Given the description of an element on the screen output the (x, y) to click on. 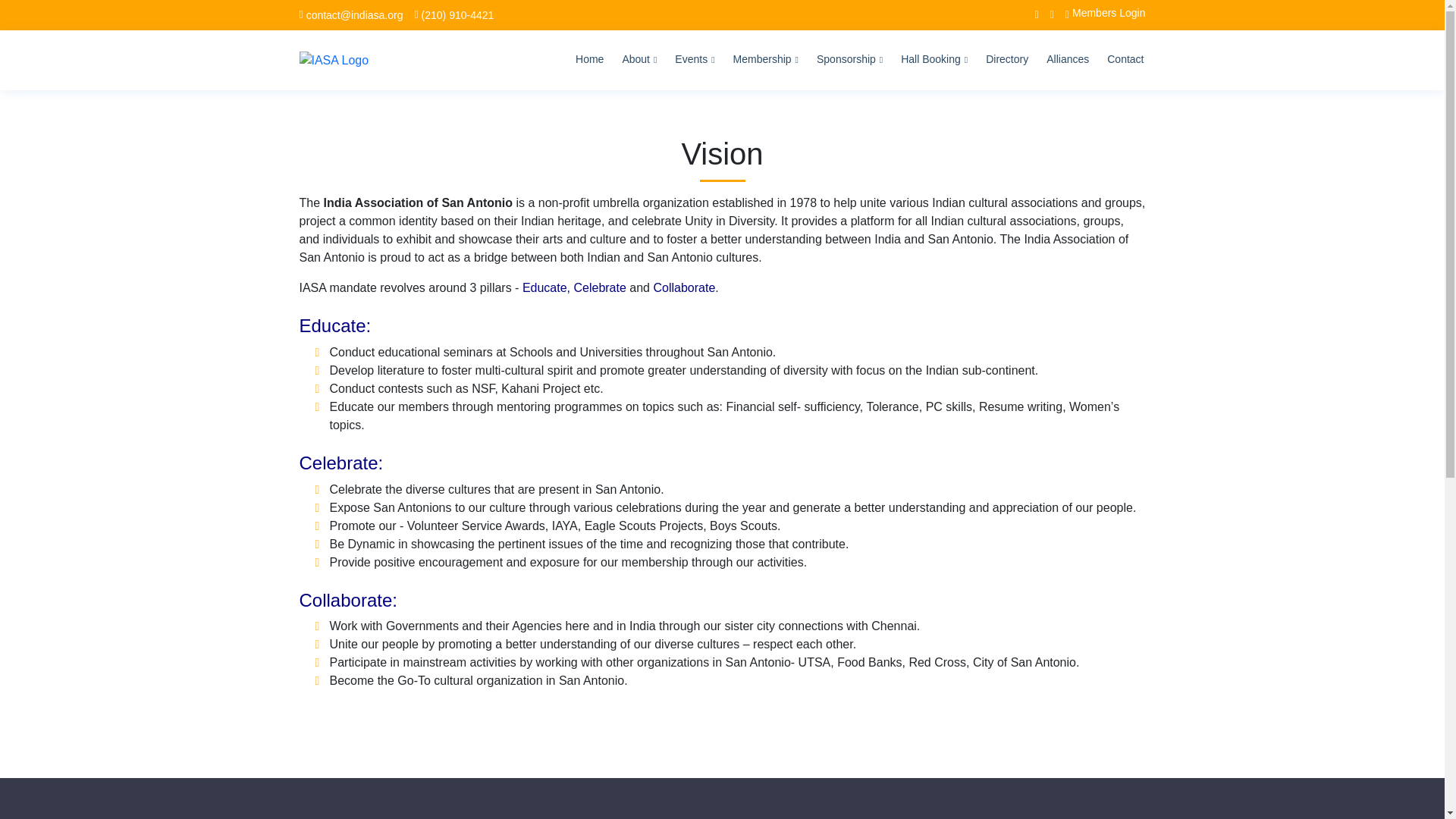
Events (694, 59)
Sponsorship (849, 59)
Contact (1124, 59)
About (639, 59)
Home (589, 59)
Members Login (1099, 14)
Home (589, 59)
Hall Booking (934, 59)
Membership (765, 59)
Directory (1006, 59)
